Given the description of an element on the screen output the (x, y) to click on. 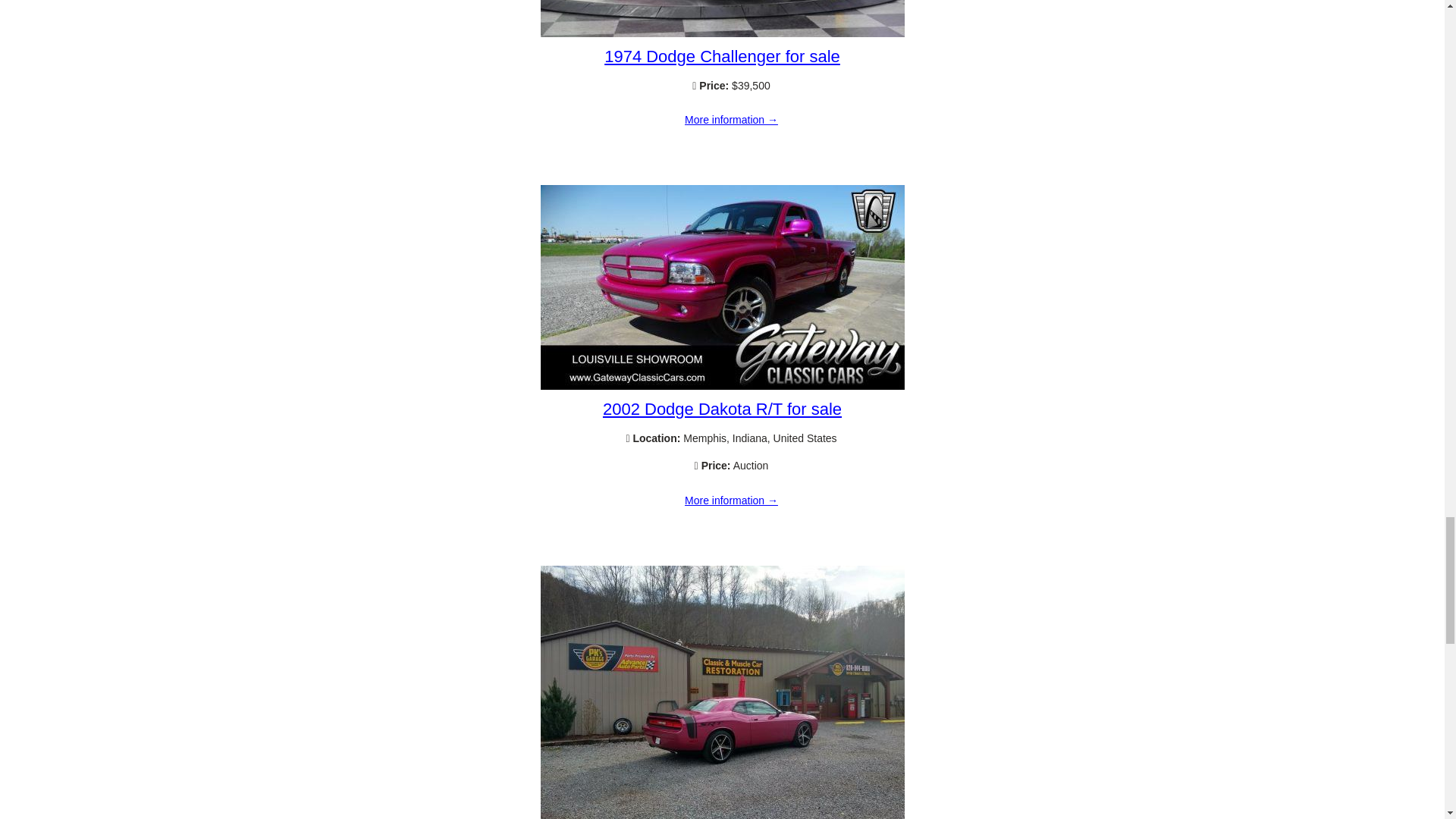
1974 Dodge Challenger for sale (722, 33)
1974 Dodge Challenger for sale (731, 120)
1974 Dodge Challenger for sale (722, 56)
